Given the description of an element on the screen output the (x, y) to click on. 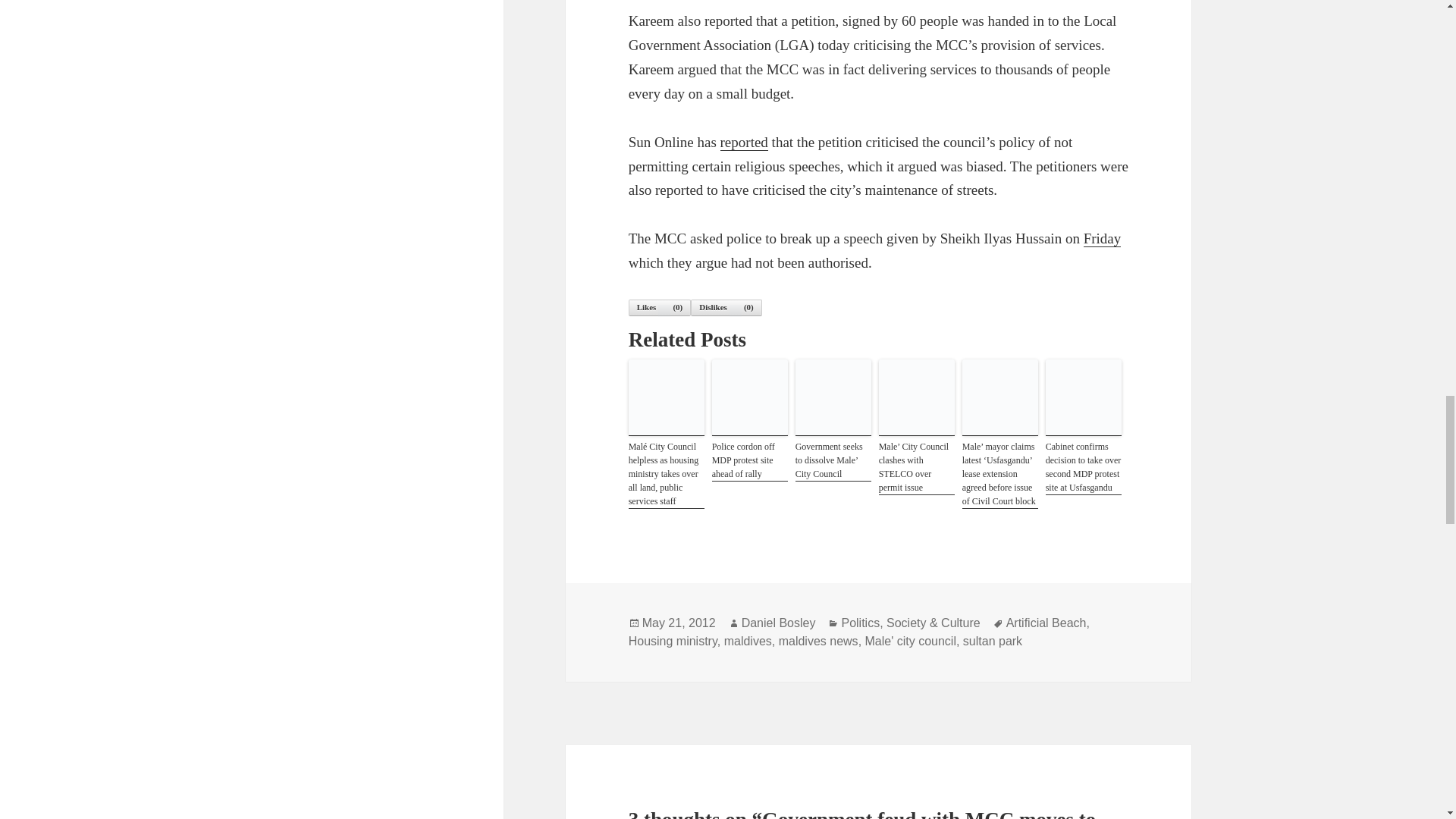
reported (744, 142)
Police cordon off MDP protest site ahead of rally (749, 460)
Friday (1102, 238)
